Given the description of an element on the screen output the (x, y) to click on. 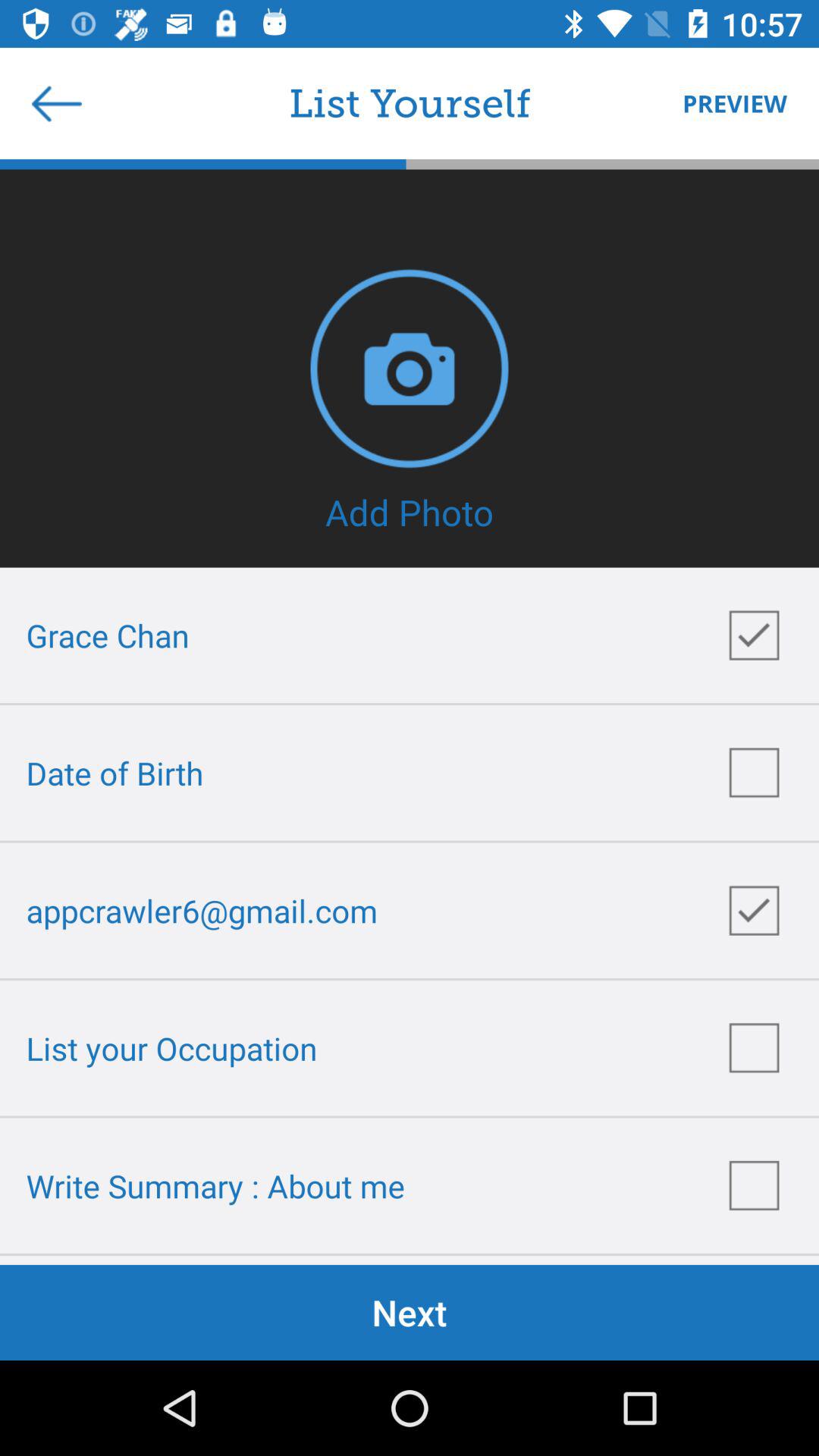
open the item to the right of the list yourself icon (727, 103)
